Given the description of an element on the screen output the (x, y) to click on. 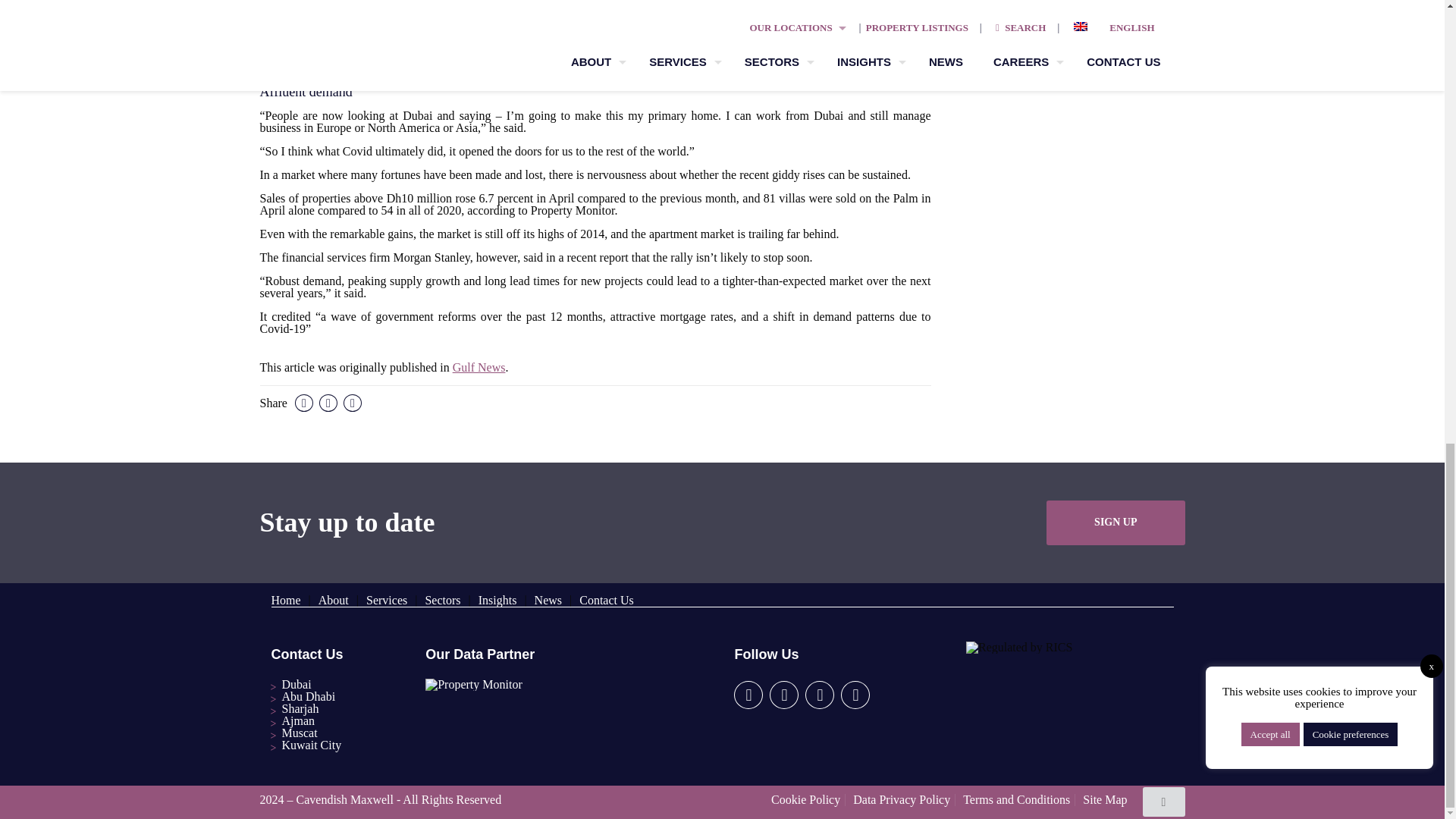
Cavendish Maxwell X (783, 694)
Cavendish Maxwell Linkedin (747, 694)
Cavendish Maxwell Instagram (819, 694)
back to top (1163, 801)
Cavendish Maxwell YouTube (855, 694)
